Given the description of an element on the screen output the (x, y) to click on. 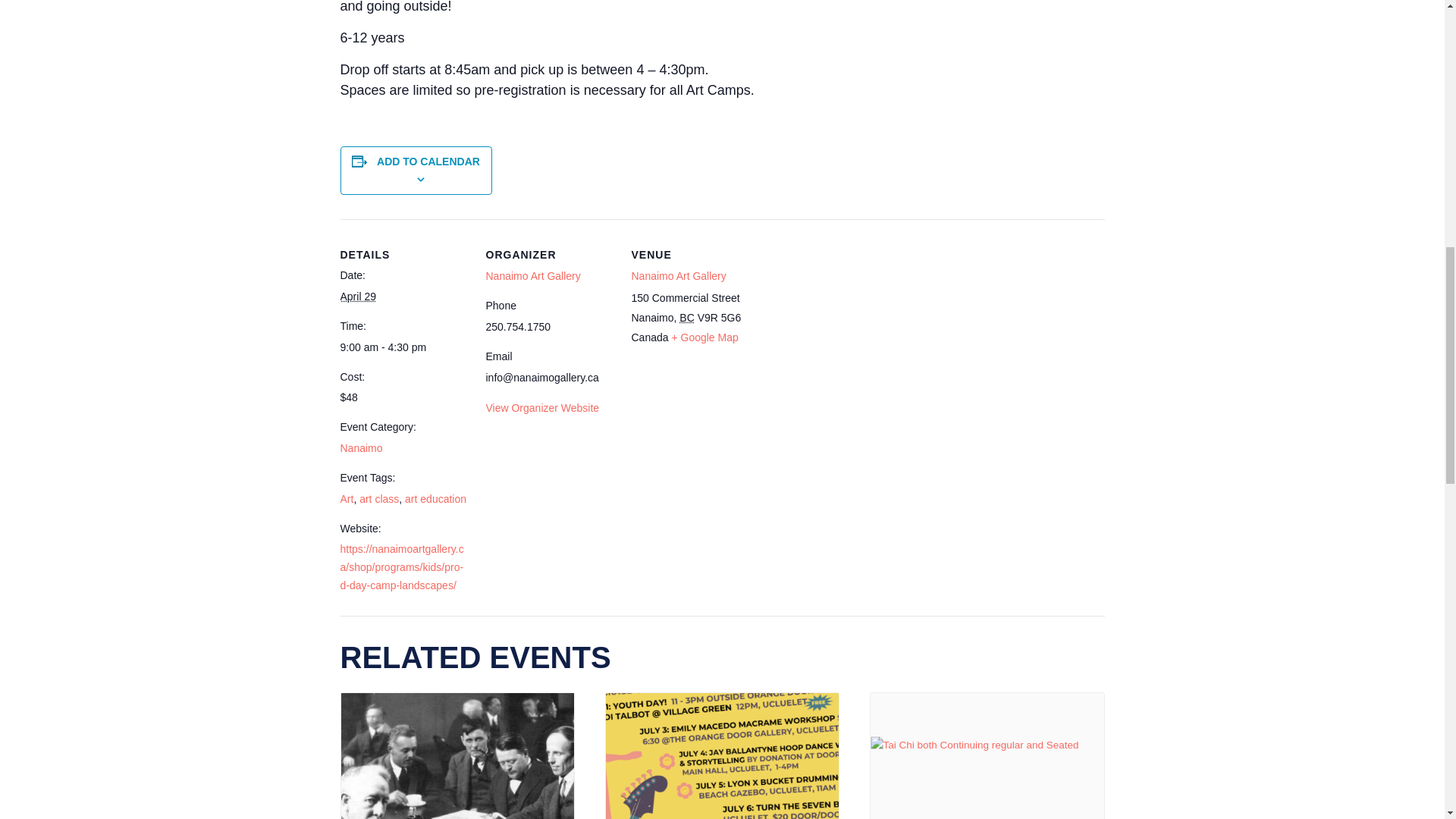
ADD TO CALENDAR (428, 161)
2024-04-29 (357, 296)
Click to view a Google Map (704, 337)
Nanaimo (360, 448)
Nanaimo Art Gallery (531, 275)
BC (686, 317)
Art (346, 499)
2024-04-29 (403, 347)
